Given the description of an element on the screen output the (x, y) to click on. 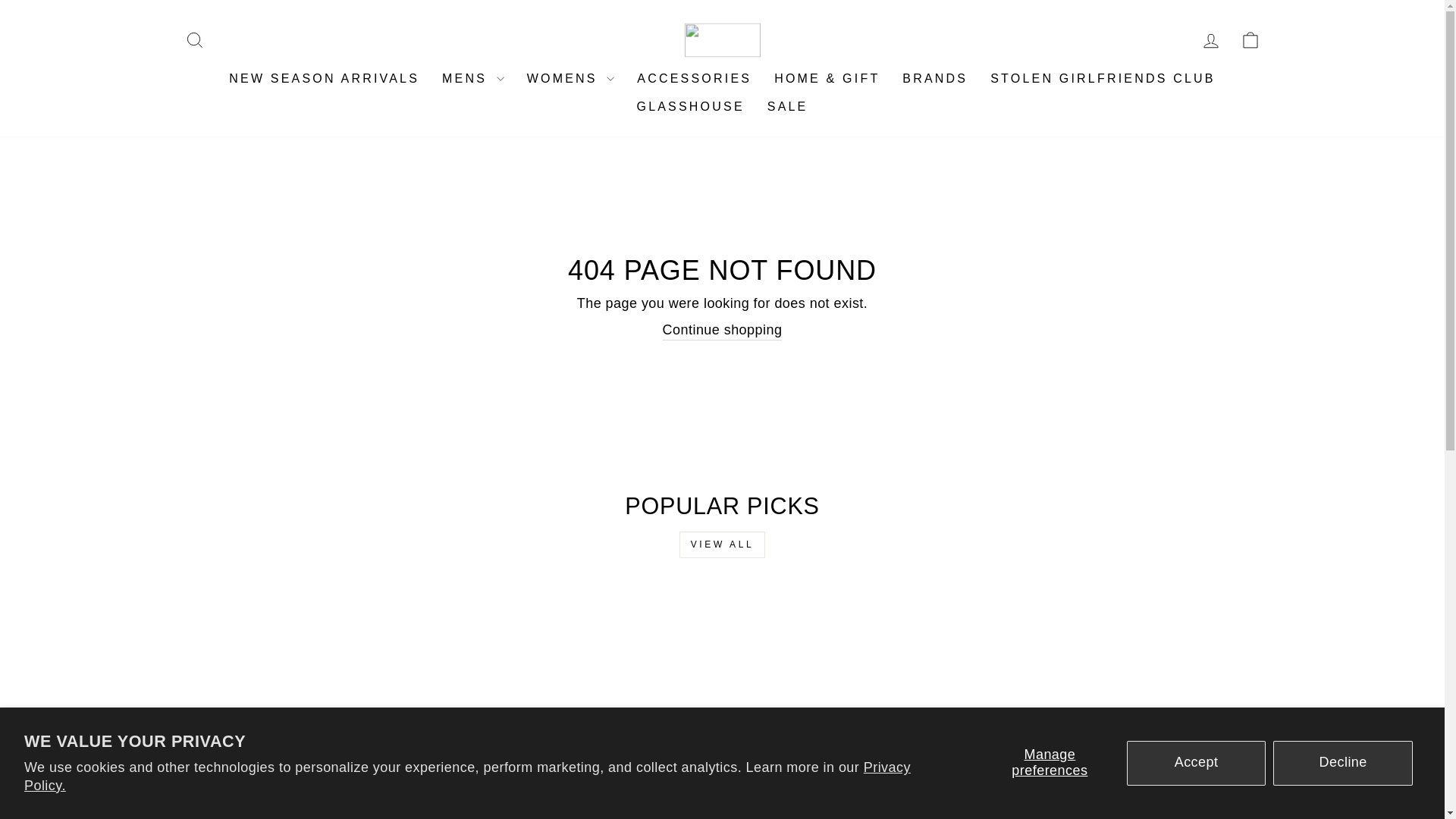
ICON-BAG-MINIMAL (1249, 38)
Accept (1196, 763)
ACCOUNT (1210, 40)
Manage preferences (1049, 763)
Privacy Policy. (467, 776)
Decline (1342, 763)
ICON-SEARCH (194, 38)
